Given the description of an element on the screen output the (x, y) to click on. 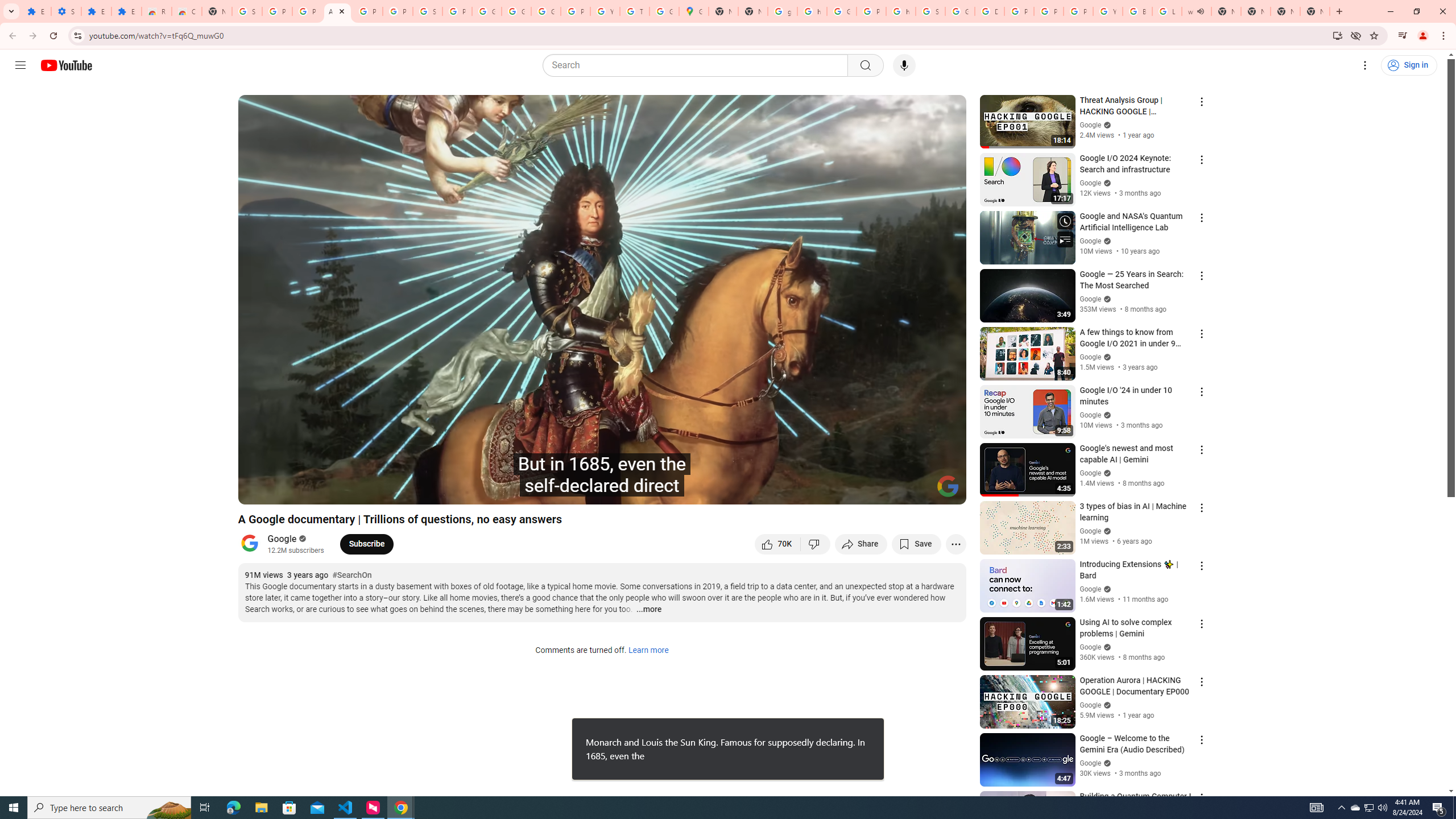
Channel watermark (947, 486)
Settings (65, 11)
https://scholar.google.com/ (811, 11)
Google (282, 538)
Next (SHIFT+n) (284, 490)
Privacy Help Center - Policies Help (1018, 11)
Address and search bar (707, 35)
Settings (863, 490)
Extensions (95, 11)
